Given the description of an element on the screen output the (x, y) to click on. 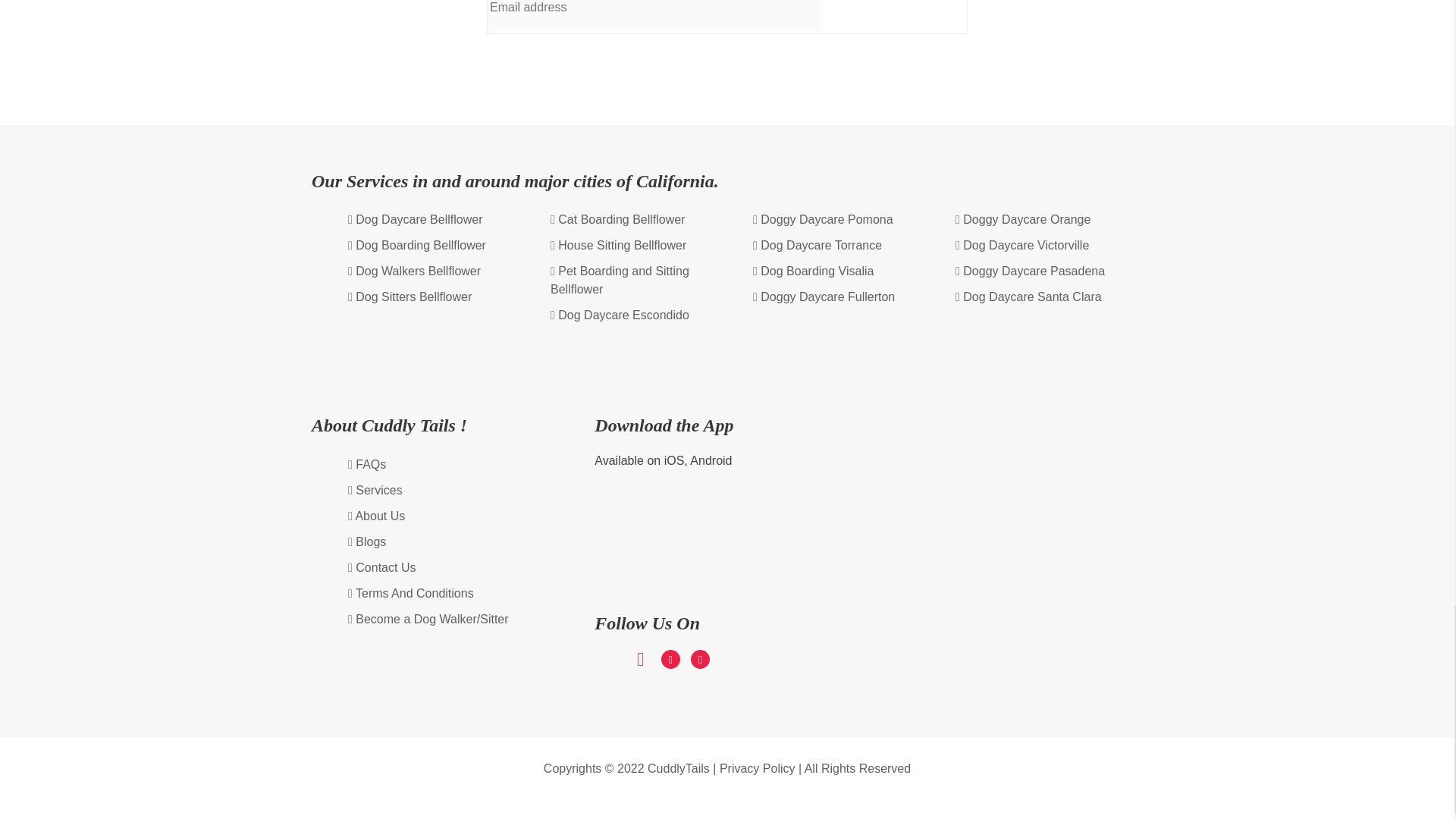
Dog Daycare Torrance (817, 245)
Pet Boarding and Sitting Bellflower (644, 280)
Dog Boarding Visalia (812, 271)
Dog Sitters Bellflower (409, 297)
Dog Walkers Bellflower (413, 271)
House Sitting Bellflower (617, 245)
Doggy Daycare Pasadena (1030, 271)
Dog Daycare Bellflower (414, 219)
Dog Daycare Victorville (1022, 245)
Cat Boarding Bellflower (617, 219)
